Given the description of an element on the screen output the (x, y) to click on. 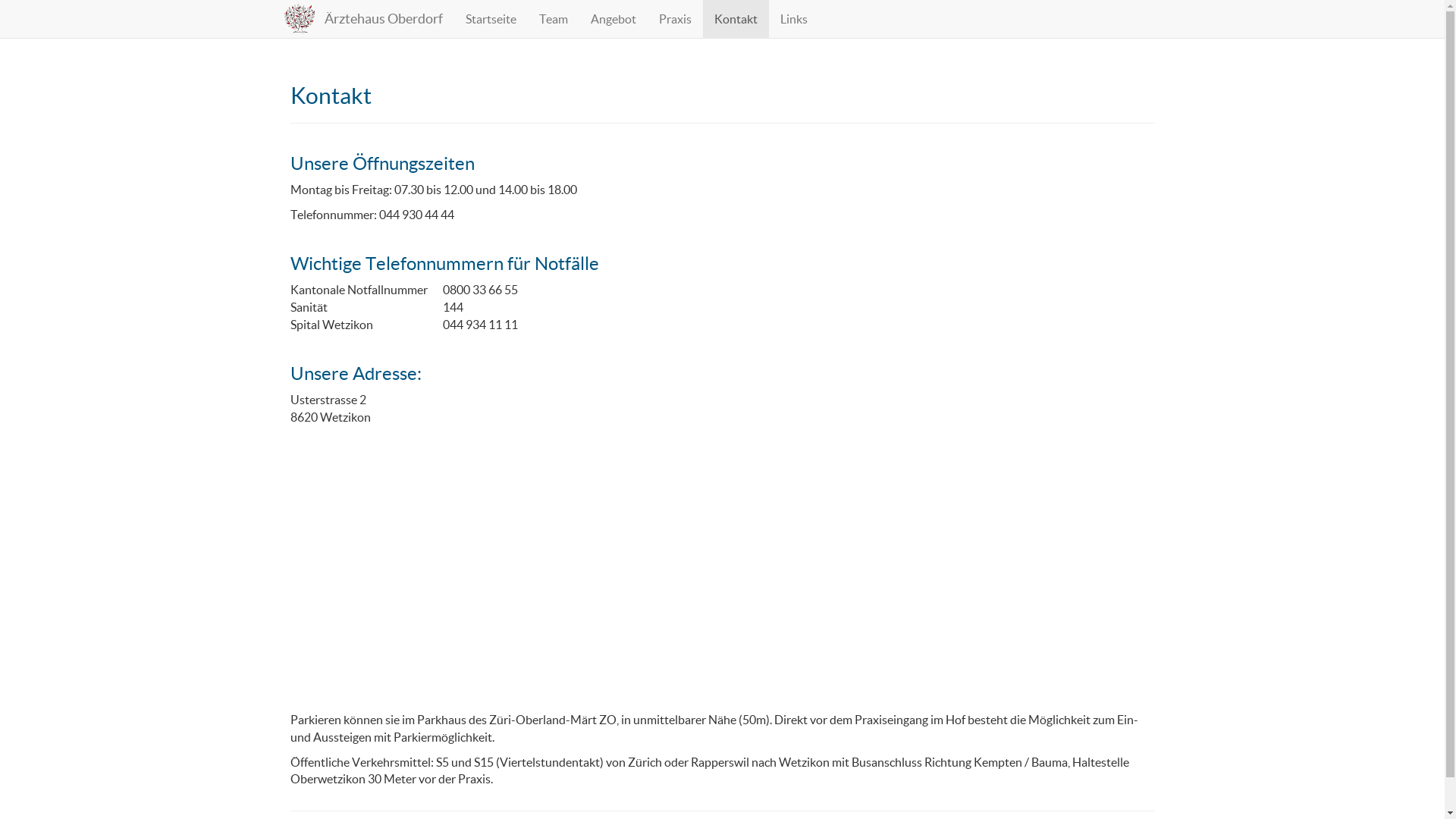
Kontakt Element type: text (735, 18)
Links Element type: text (793, 18)
Startseite Element type: text (490, 18)
Praxis Element type: text (674, 18)
Angebot Element type: text (613, 18)
Team Element type: text (553, 18)
